Given the description of an element on the screen output the (x, y) to click on. 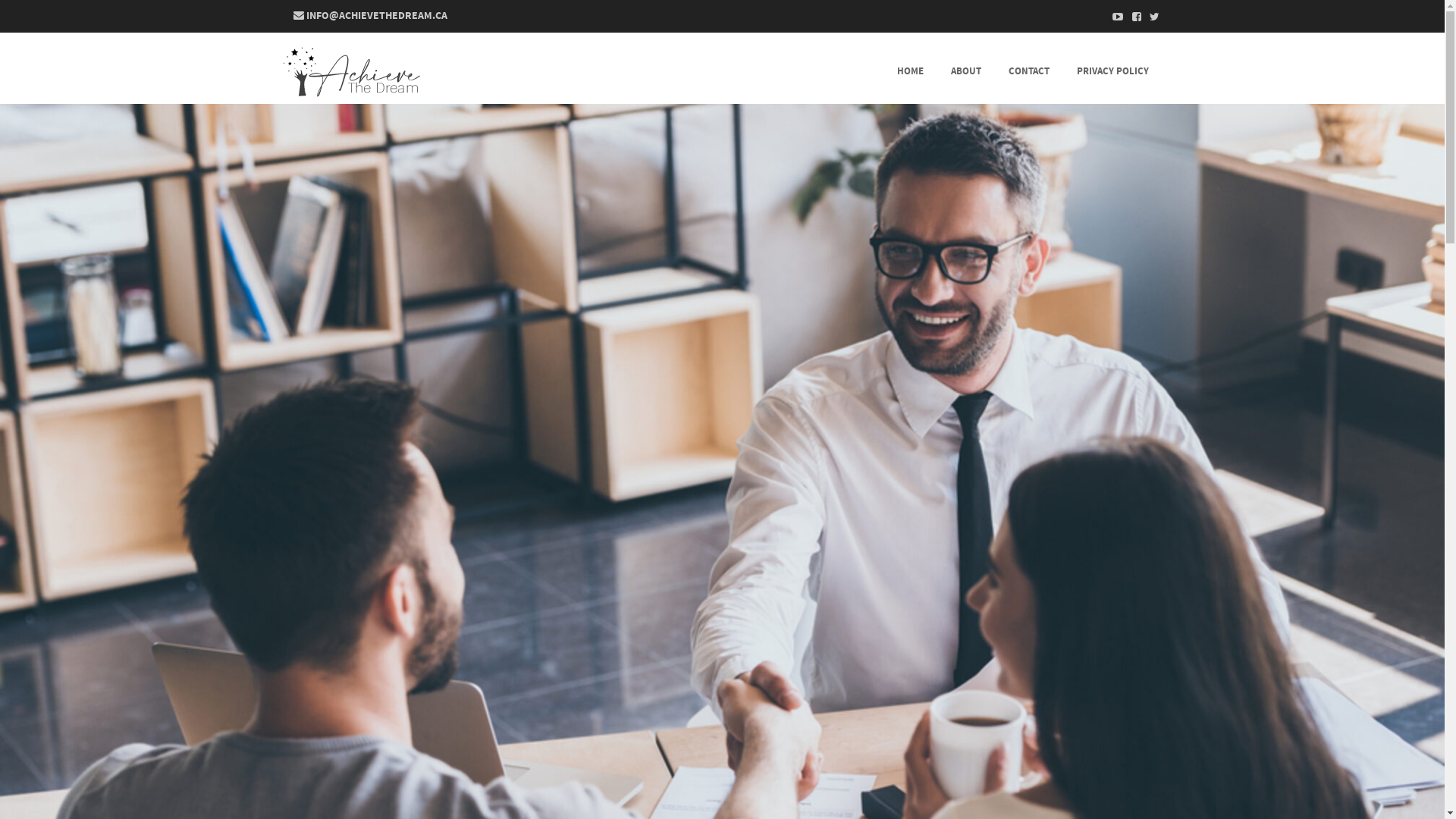
SKIP TO CONTENT Element type: text (599, 67)
Facebook Element type: hover (1131, 16)
Achieve The Dream Element type: hover (350, 72)
PRIVACY POLICY Element type: text (1112, 67)
ABOUT Element type: text (965, 67)
HOME Element type: text (909, 67)
CONTACT Element type: text (1028, 67)
MENU Element type: text (572, 80)
Twitter Element type: hover (1149, 16)
Youtube Element type: hover (1113, 16)
